Given the description of an element on the screen output the (x, y) to click on. 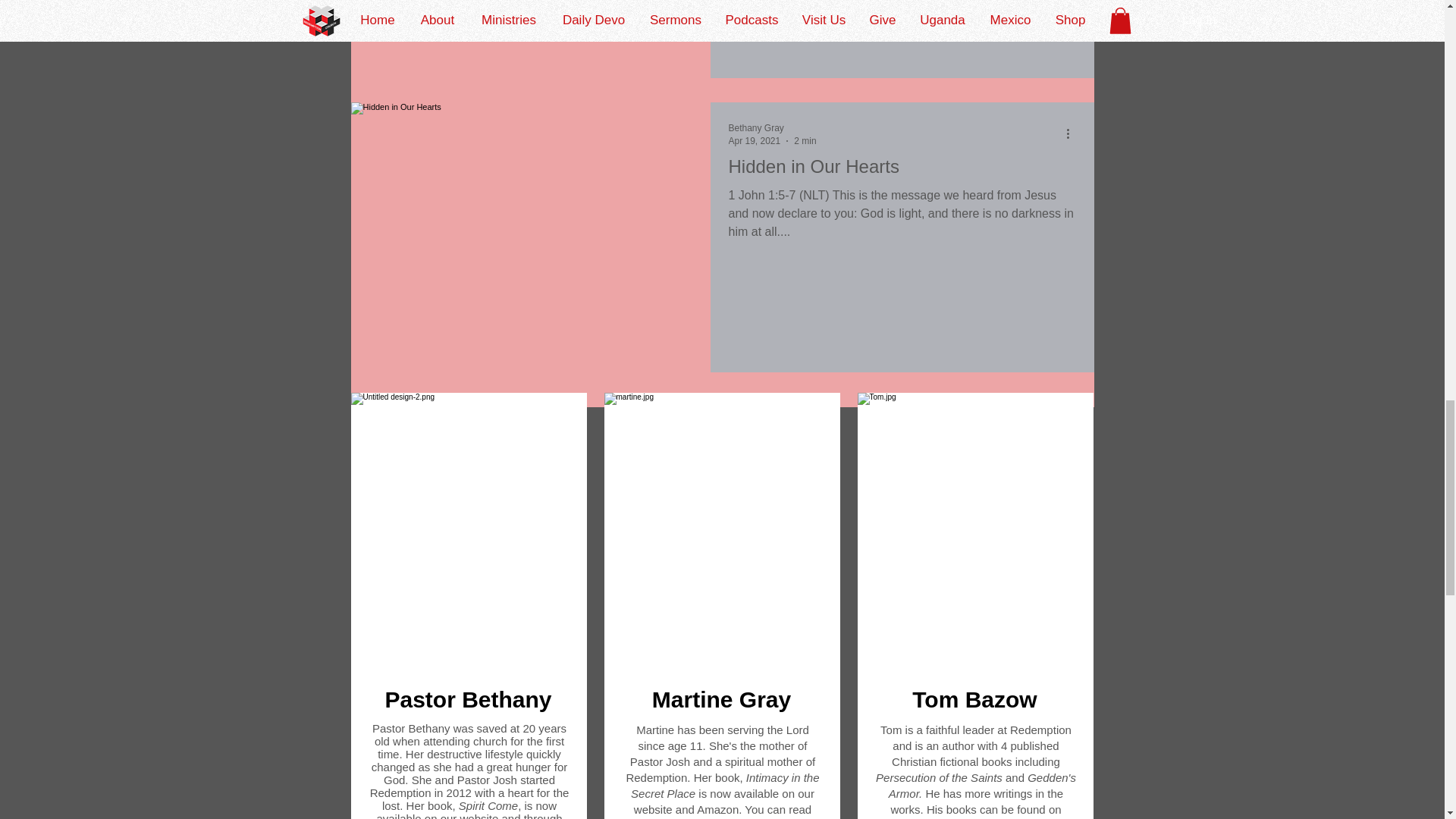
Bethany Gray (771, 128)
Hidden in Our Hearts (901, 170)
2 min (804, 140)
Bethany Gray (755, 127)
Apr 19, 2021 (754, 140)
